Given the description of an element on the screen output the (x, y) to click on. 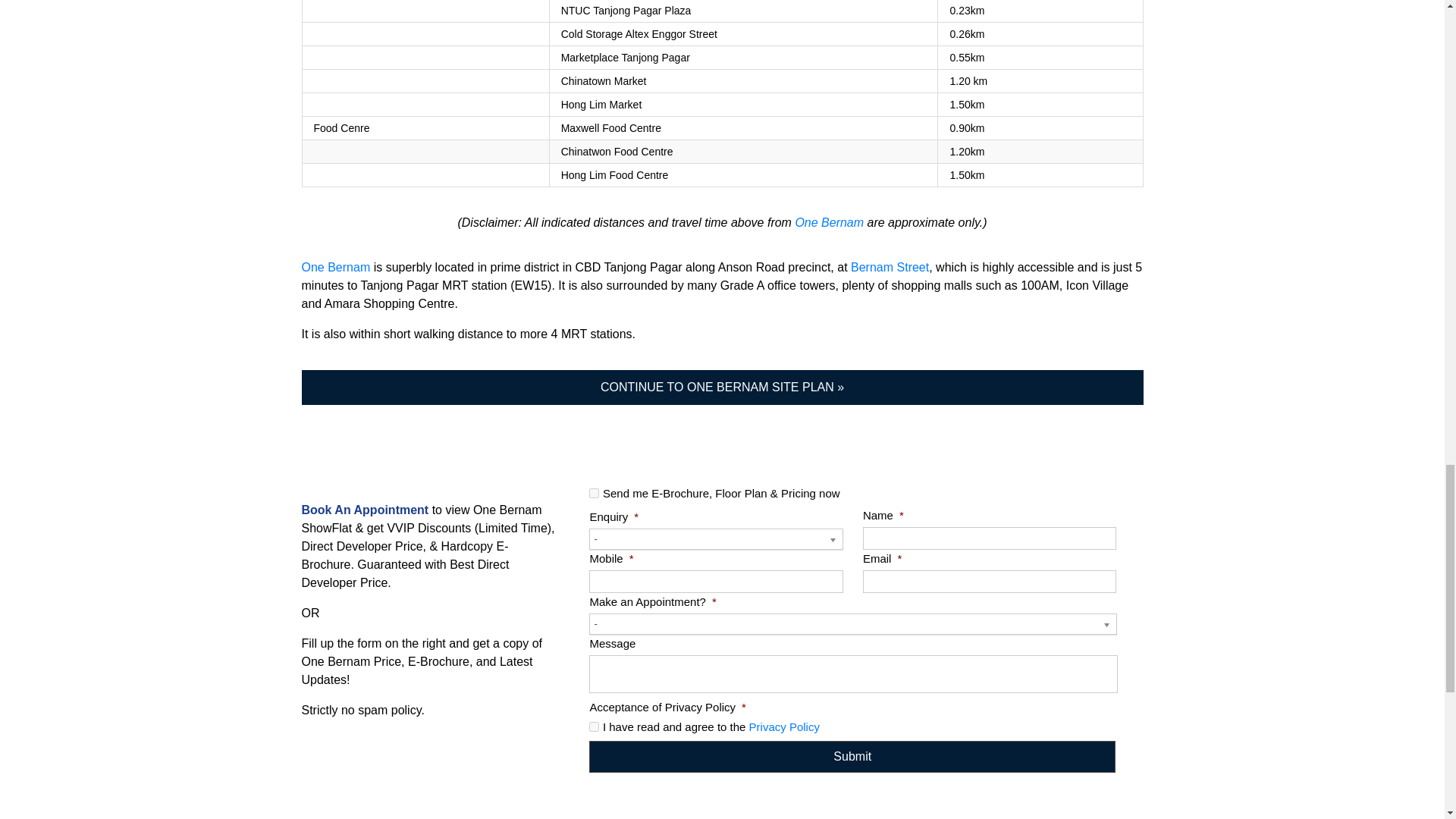
Yes (593, 492)
Submit (852, 757)
